Given the description of an element on the screen output the (x, y) to click on. 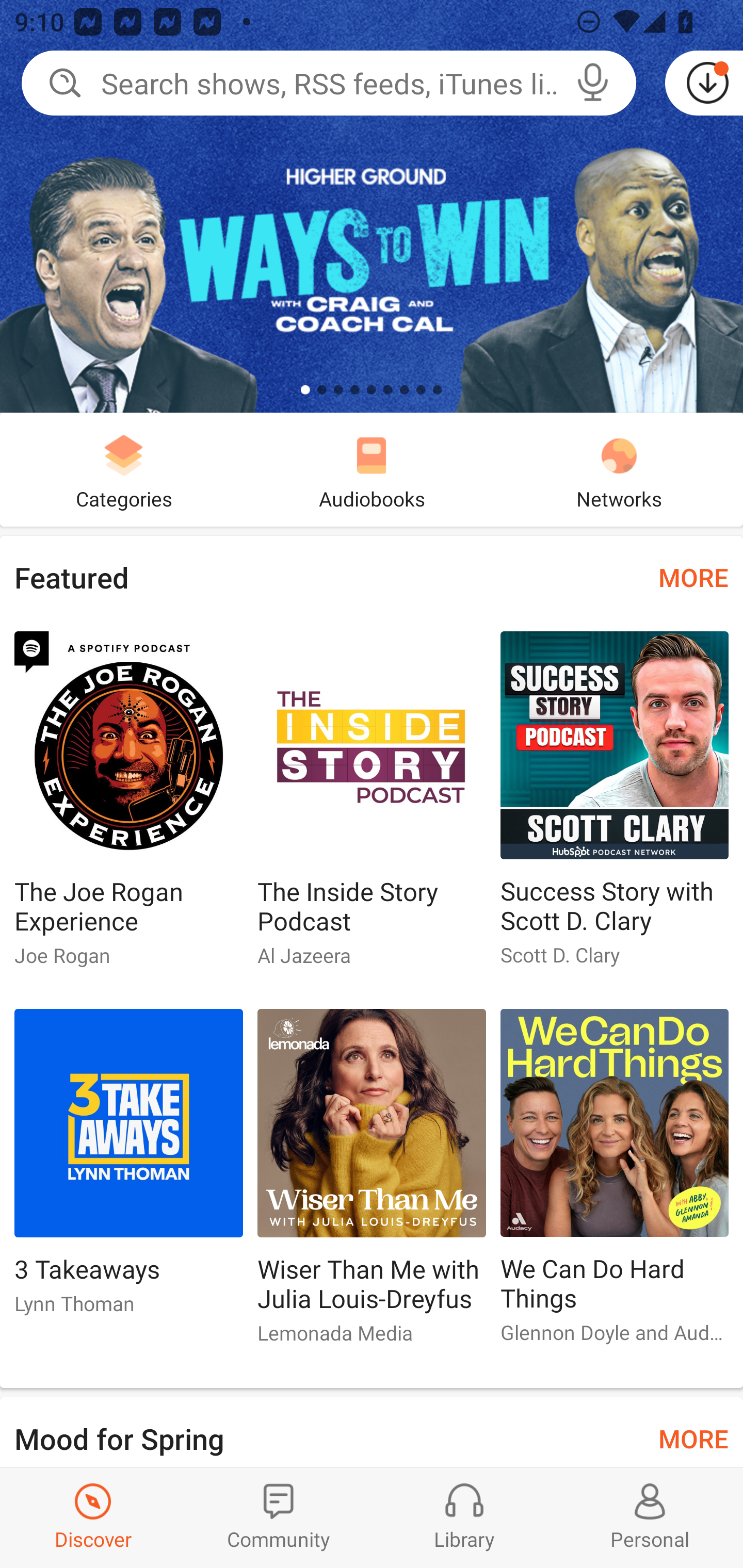
Ways To Win (371, 206)
Categories (123, 469)
Audiobooks (371, 469)
Networks (619, 469)
MORE (693, 576)
3 Takeaways 3 Takeaways Lynn Thoman (128, 1169)
MORE (693, 1436)
Discover (92, 1517)
Community (278, 1517)
Library (464, 1517)
Profiles and Settings Personal (650, 1517)
